Given the description of an element on the screen output the (x, y) to click on. 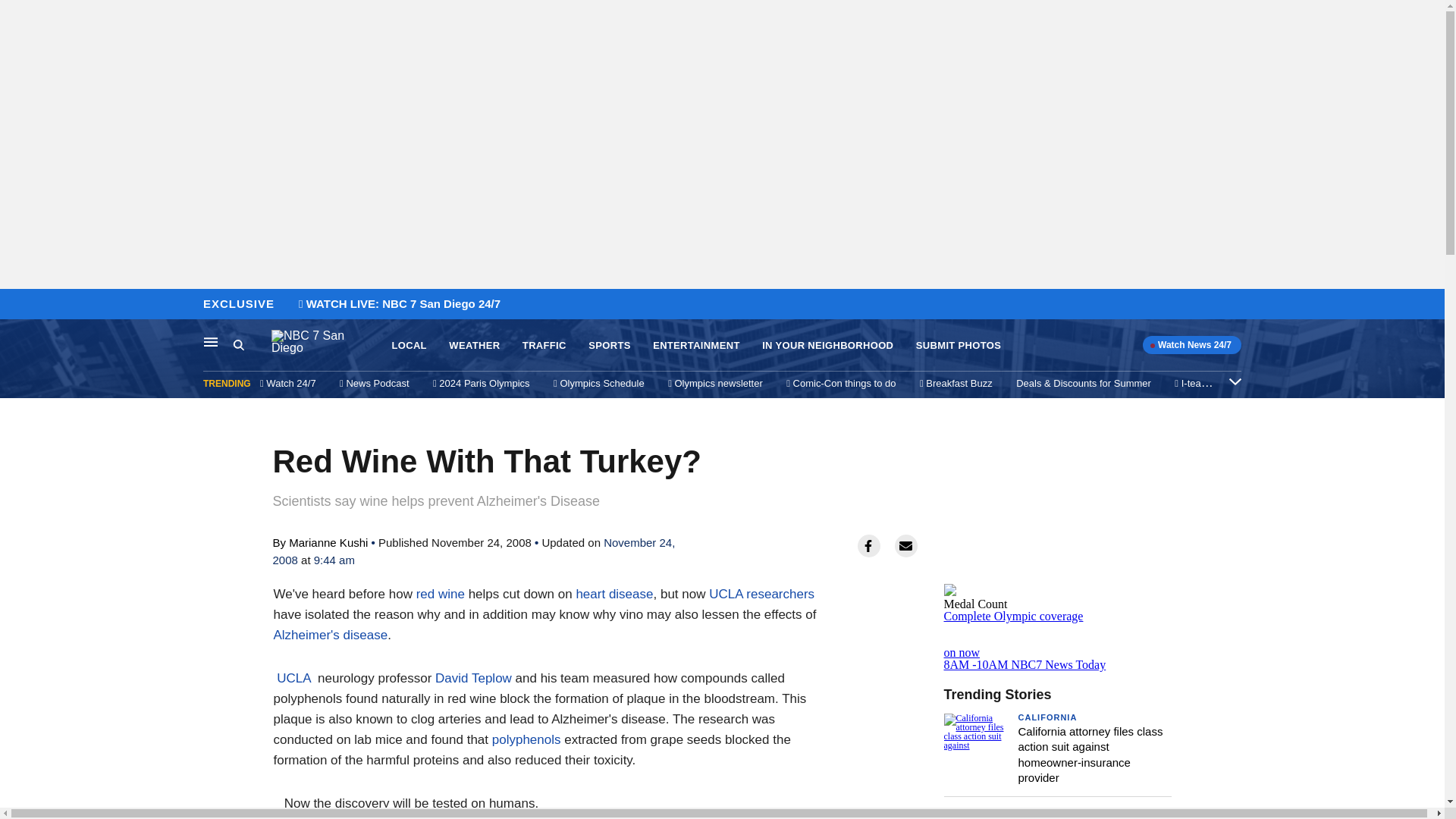
Alzheimer's disease (330, 635)
red wine (440, 594)
heart disease (613, 594)
SUBMIT PHOTOS (958, 345)
Expand (1234, 381)
polyphenols (526, 739)
WEATHER (473, 345)
Search (252, 345)
TRAFFIC (544, 345)
Search (238, 344)
IN YOUR NEIGHBORHOOD (827, 345)
 UCLA (291, 677)
Complete Olympic coverage (1013, 615)
SPORTS (609, 345)
LOCAL (408, 345)
